Given the description of an element on the screen output the (x, y) to click on. 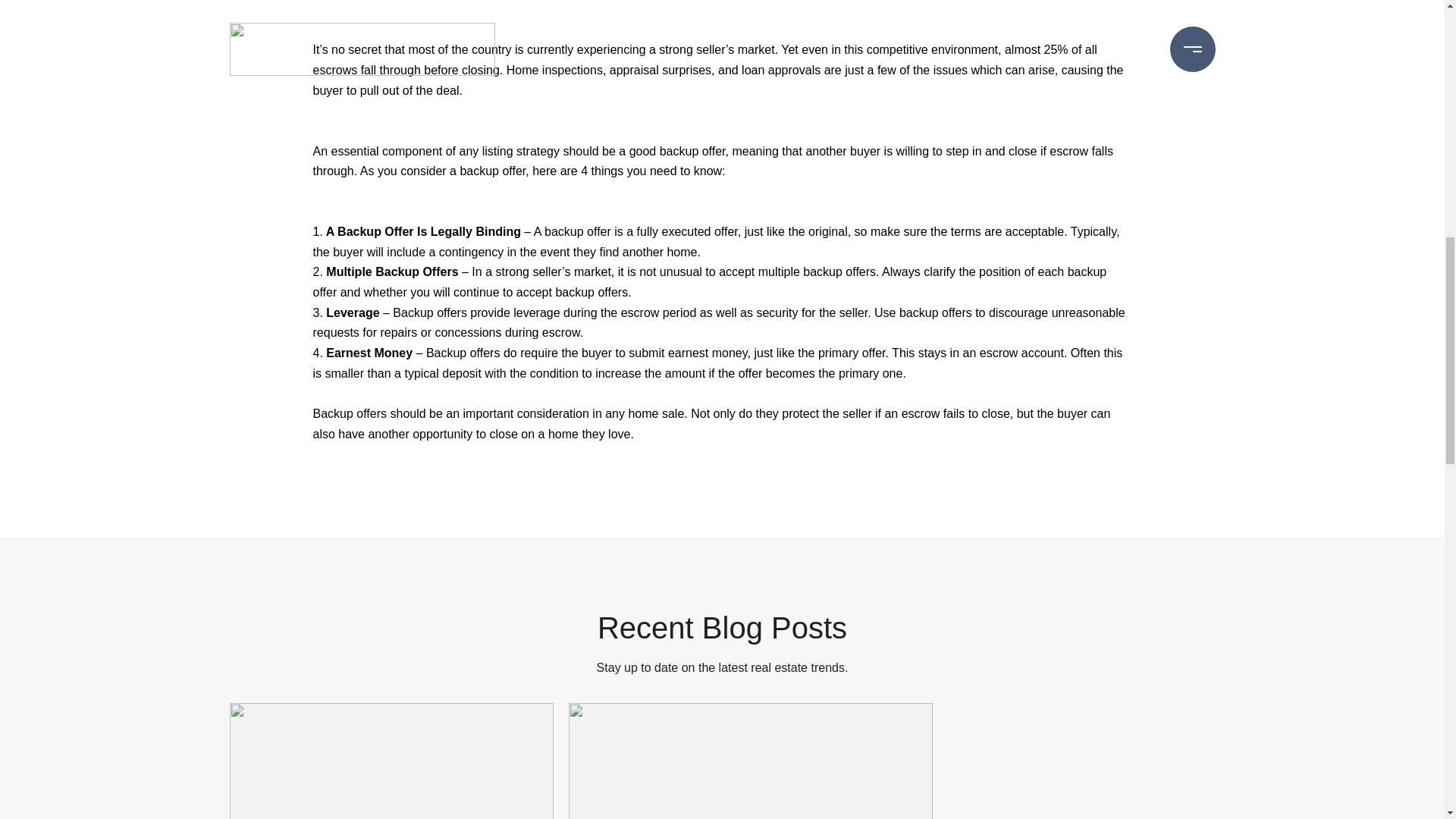
How an Election Affects the Housing Market (390, 760)
Boost Your Home's Value with These Quick Fixes (751, 760)
